Given the description of an element on the screen output the (x, y) to click on. 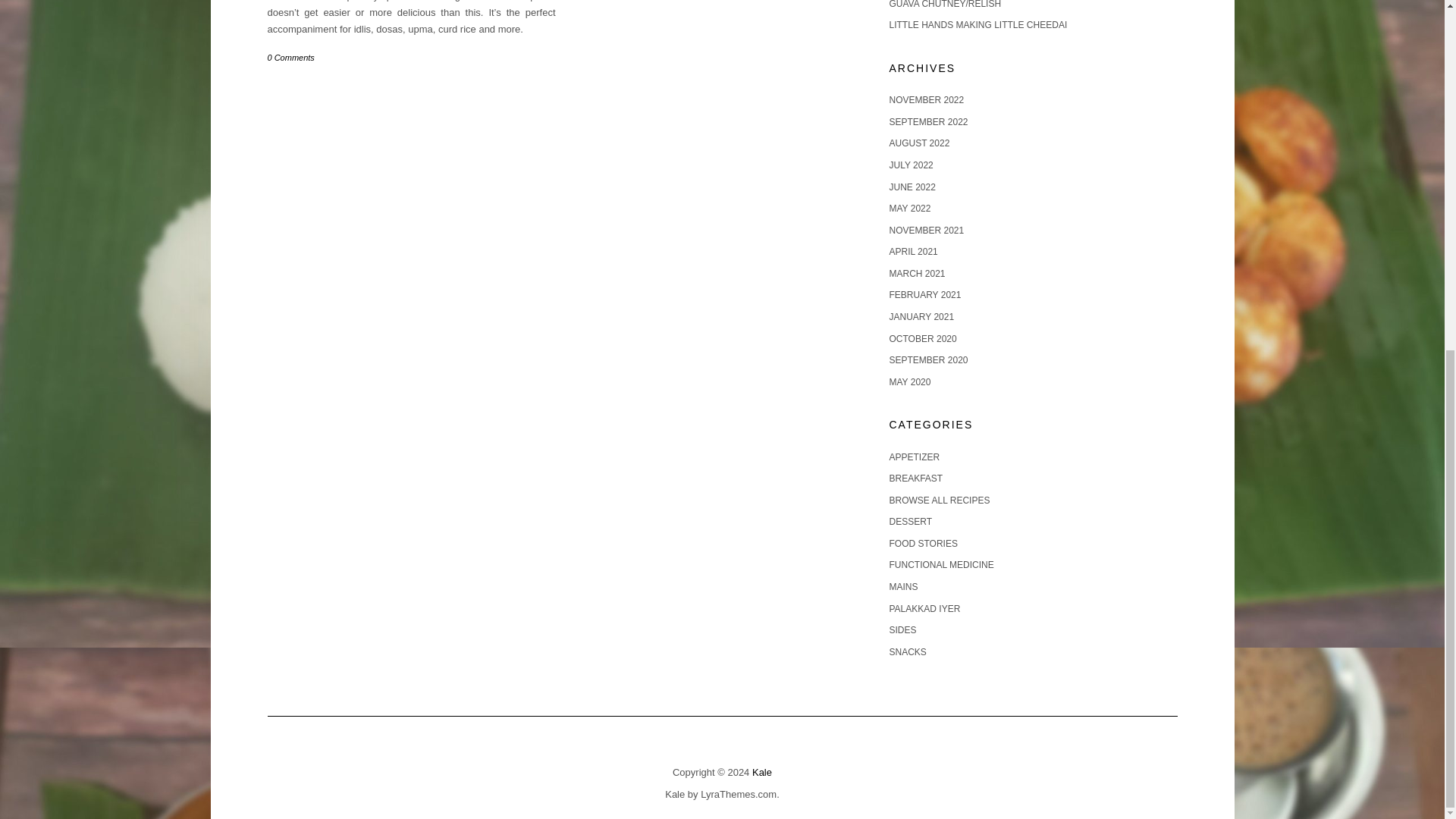
AUGUST 2022 (918, 143)
SEPTEMBER 2020 (928, 359)
NOVEMBER 2022 (925, 100)
SEPTEMBER 2022 (928, 122)
JULY 2022 (910, 164)
MAY 2020 (909, 381)
APRIL 2021 (912, 251)
JUNE 2022 (911, 186)
FEBRUARY 2021 (924, 294)
NOVEMBER 2021 (925, 230)
LITTLE HANDS MAKING LITTLE CHEEDAI (977, 24)
OCTOBER 2020 (922, 338)
MAY 2022 (909, 208)
JANUARY 2021 (920, 317)
APPETIZER (913, 457)
